Given the description of an element on the screen output the (x, y) to click on. 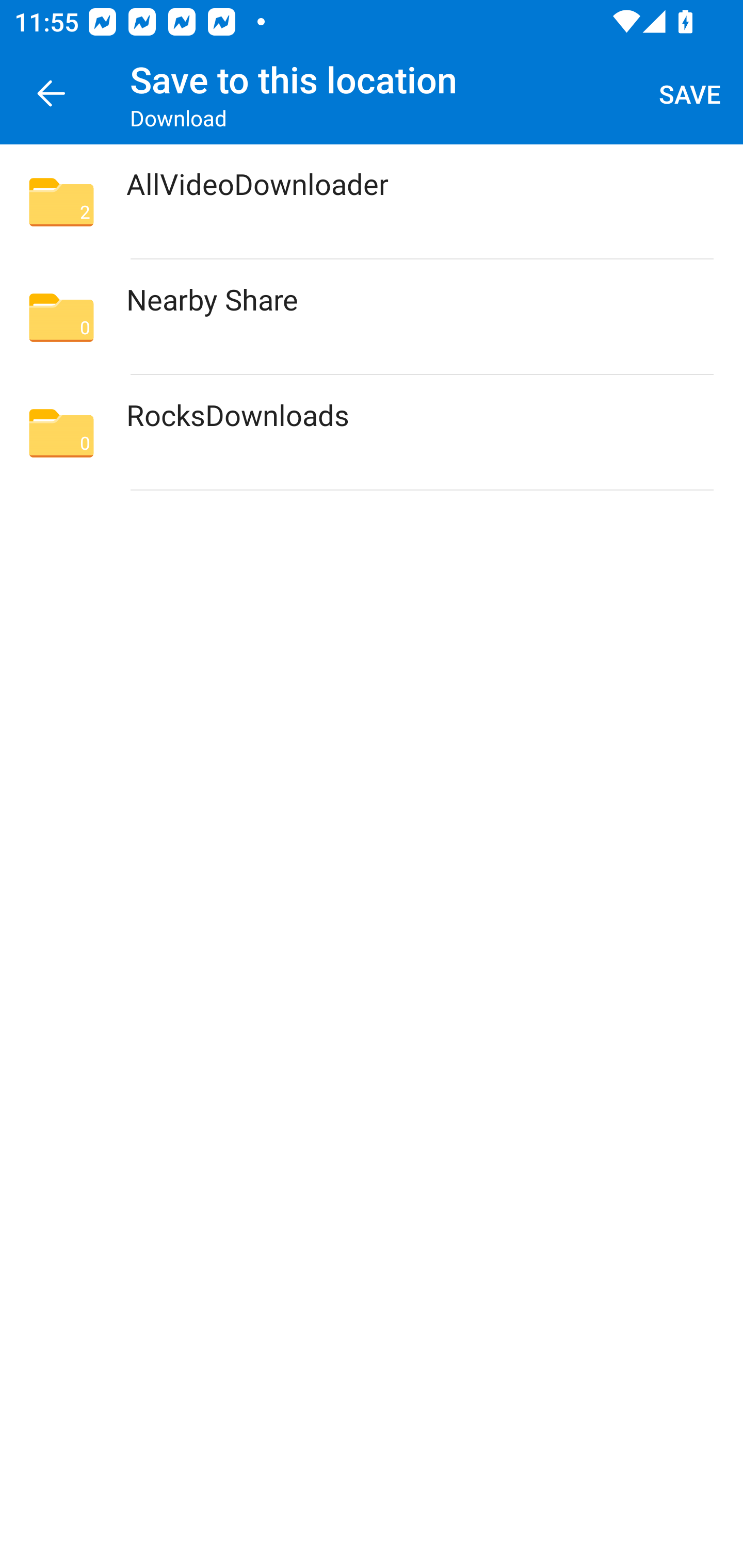
Navigate up (50, 93)
SAVE (690, 93)
Folder 2 2 items AllVideoDownloader (371, 202)
Folder 0 0 items Nearby Share (371, 317)
Folder 0 0 items RocksDownloads (371, 432)
